Given the description of an element on the screen output the (x, y) to click on. 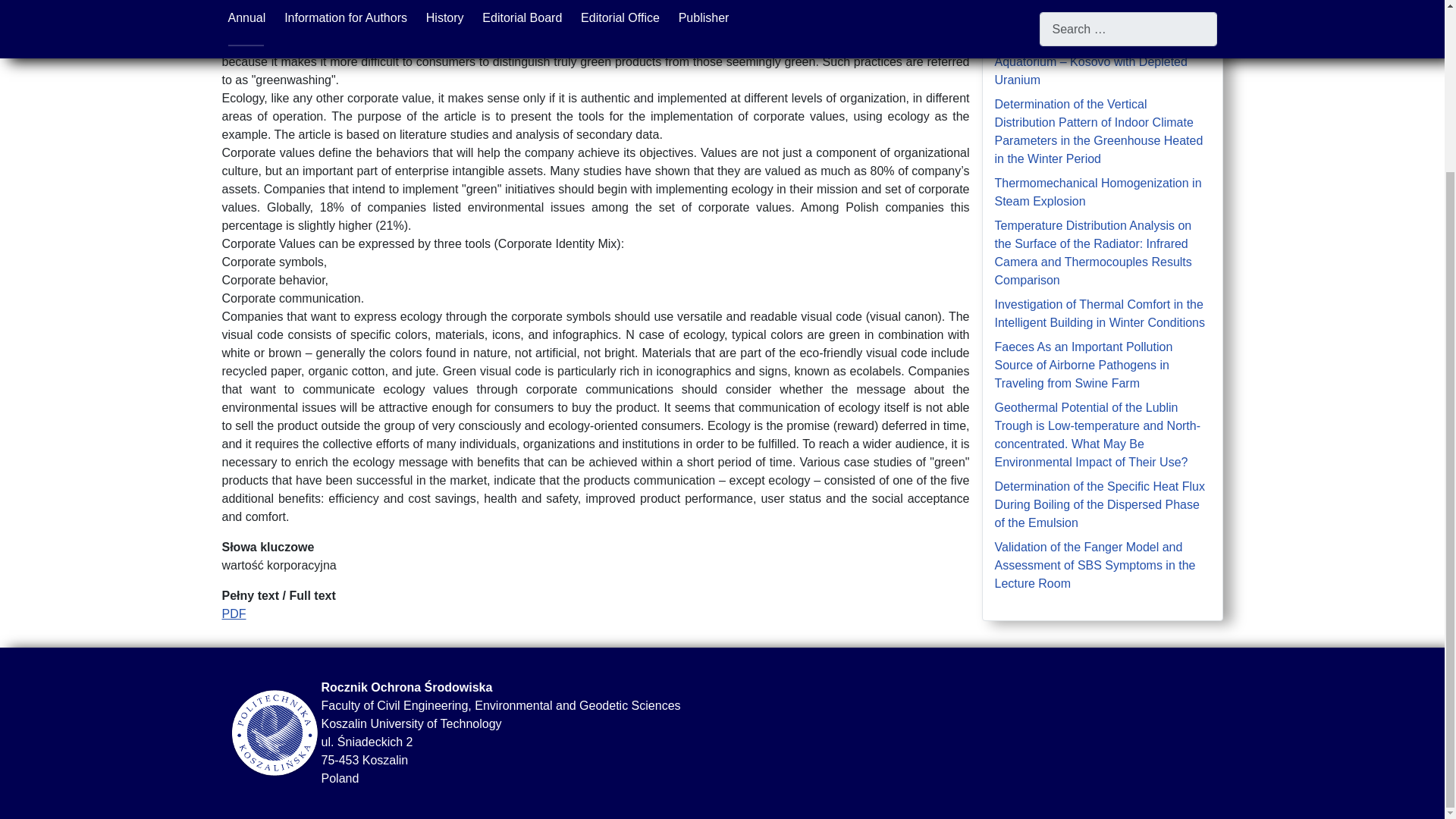
Thermomechanical Homogenization in Steam Explosion (1098, 192)
PDF (233, 613)
